Given the description of an element on the screen output the (x, y) to click on. 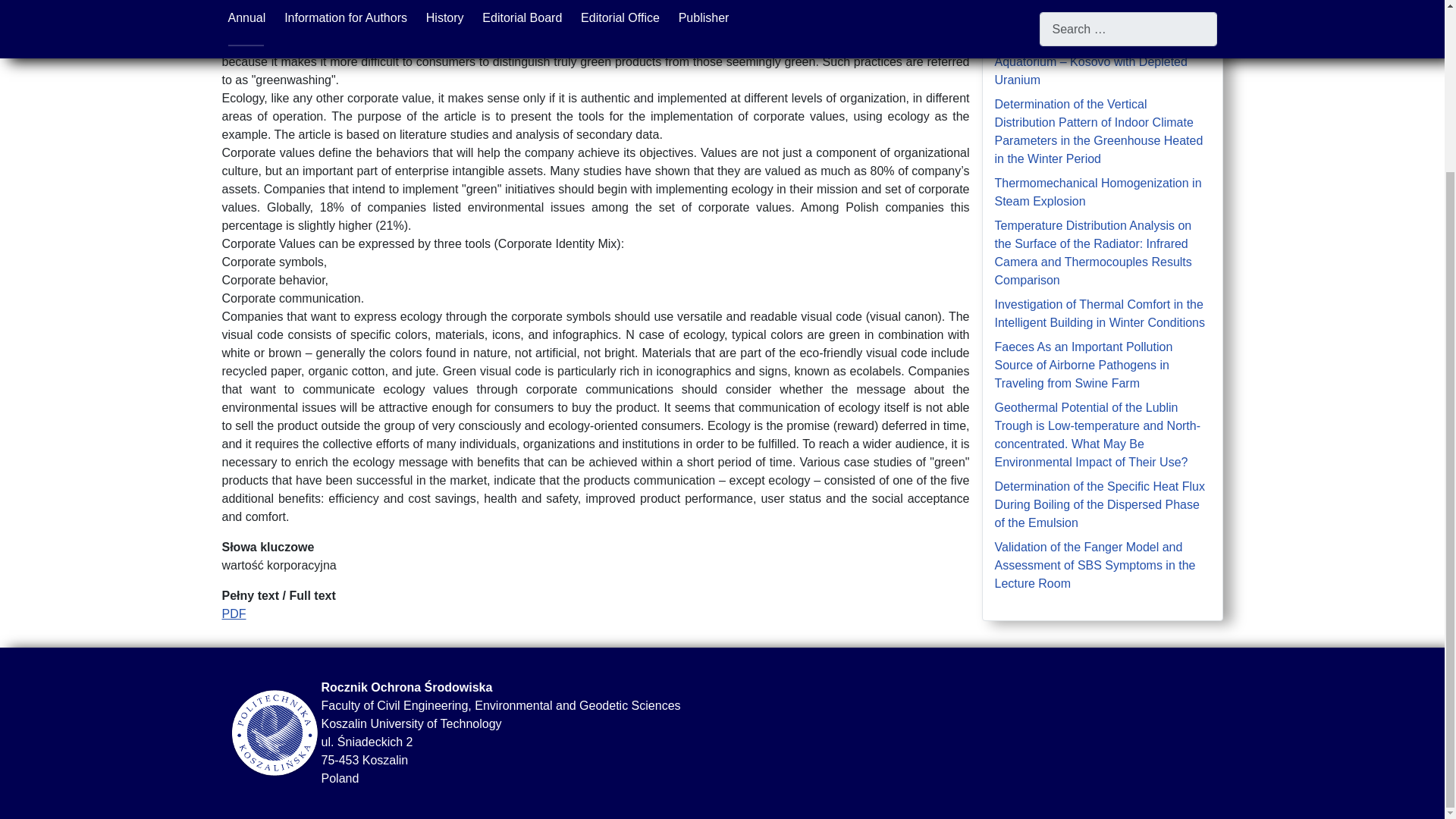
Thermomechanical Homogenization in Steam Explosion (1098, 192)
PDF (233, 613)
